Given the description of an element on the screen output the (x, y) to click on. 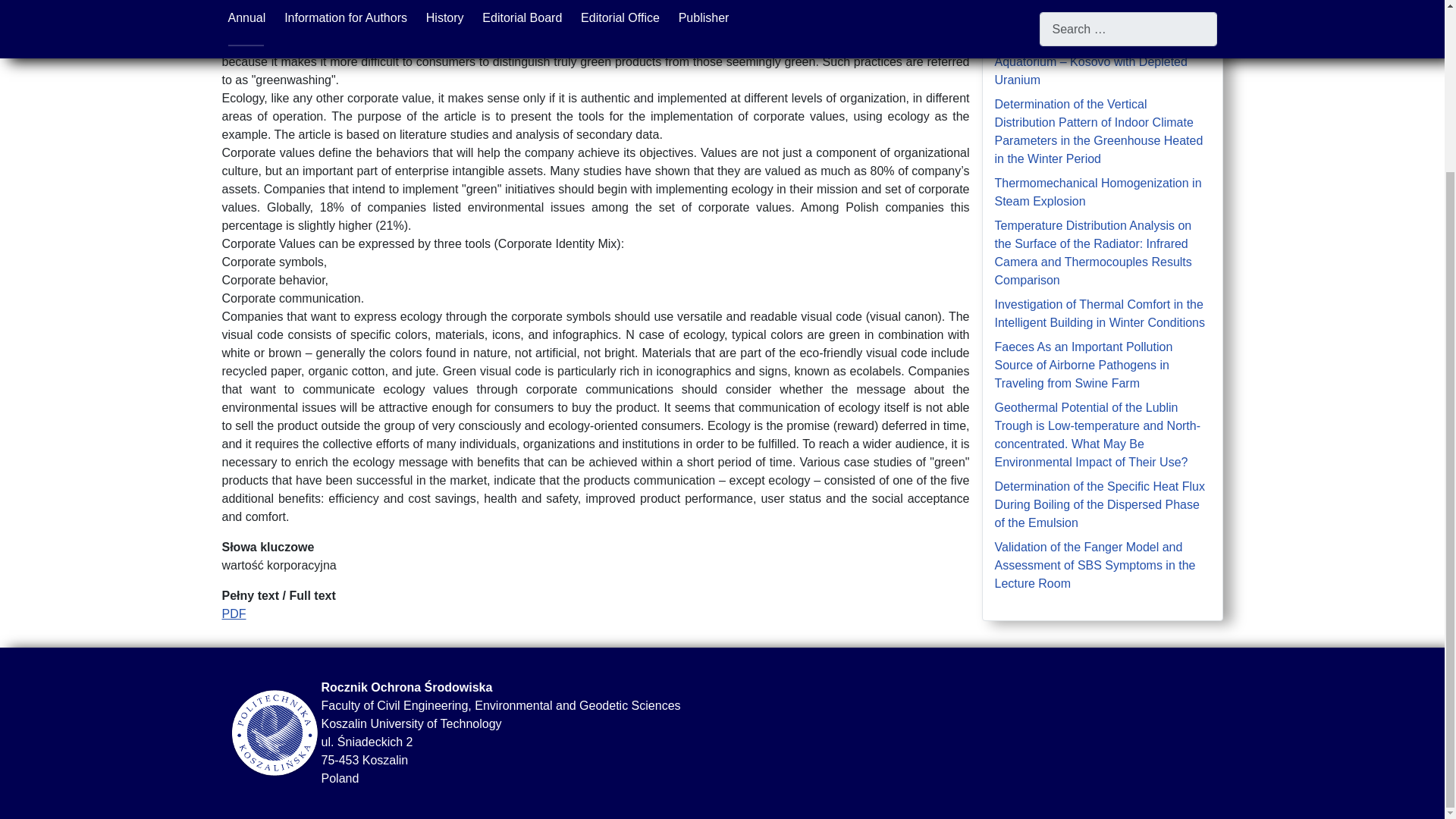
Thermomechanical Homogenization in Steam Explosion (1098, 192)
PDF (233, 613)
